Given the description of an element on the screen output the (x, y) to click on. 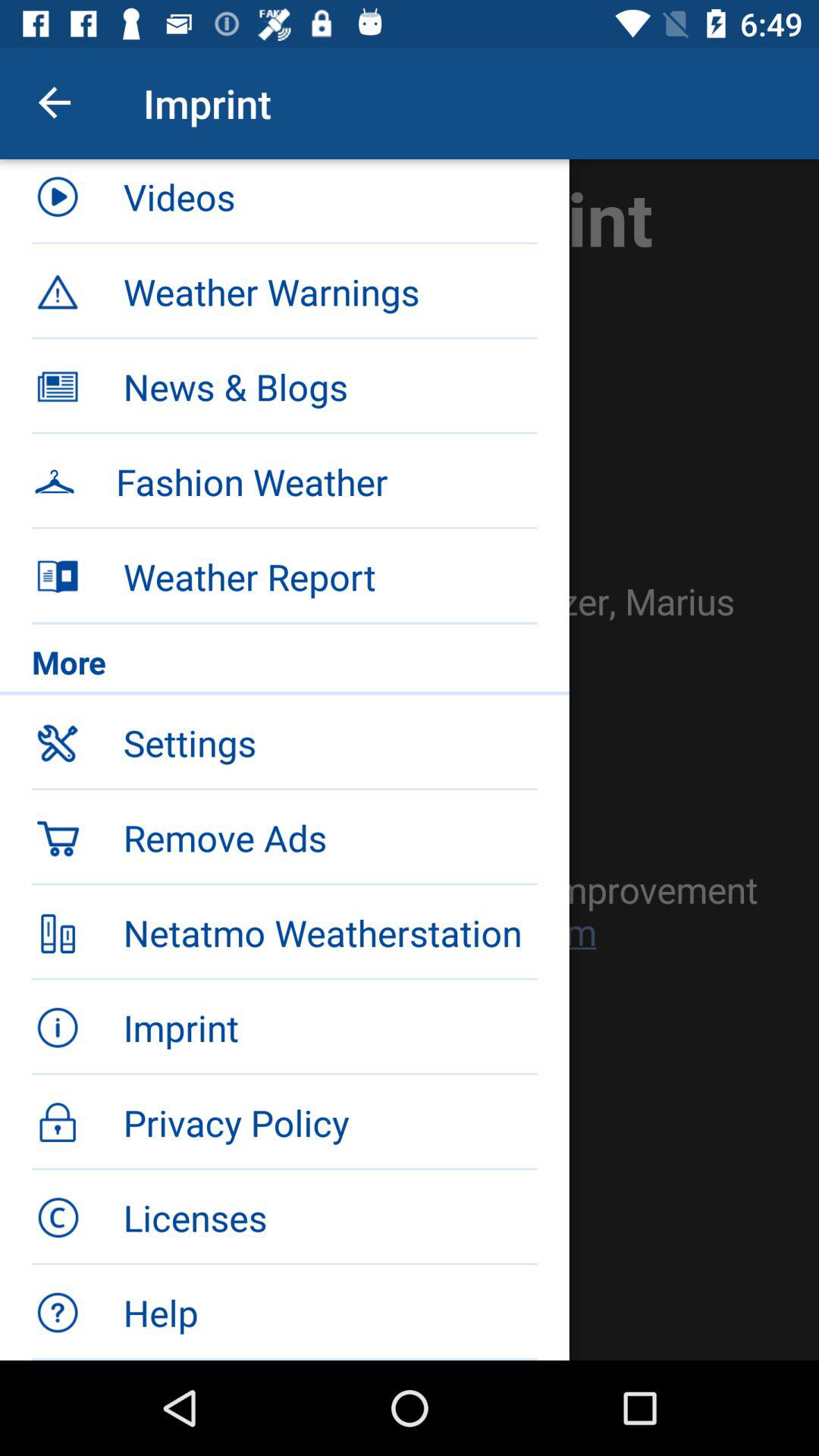
choose the icon below the settings icon (284, 835)
